Given the description of an element on the screen output the (x, y) to click on. 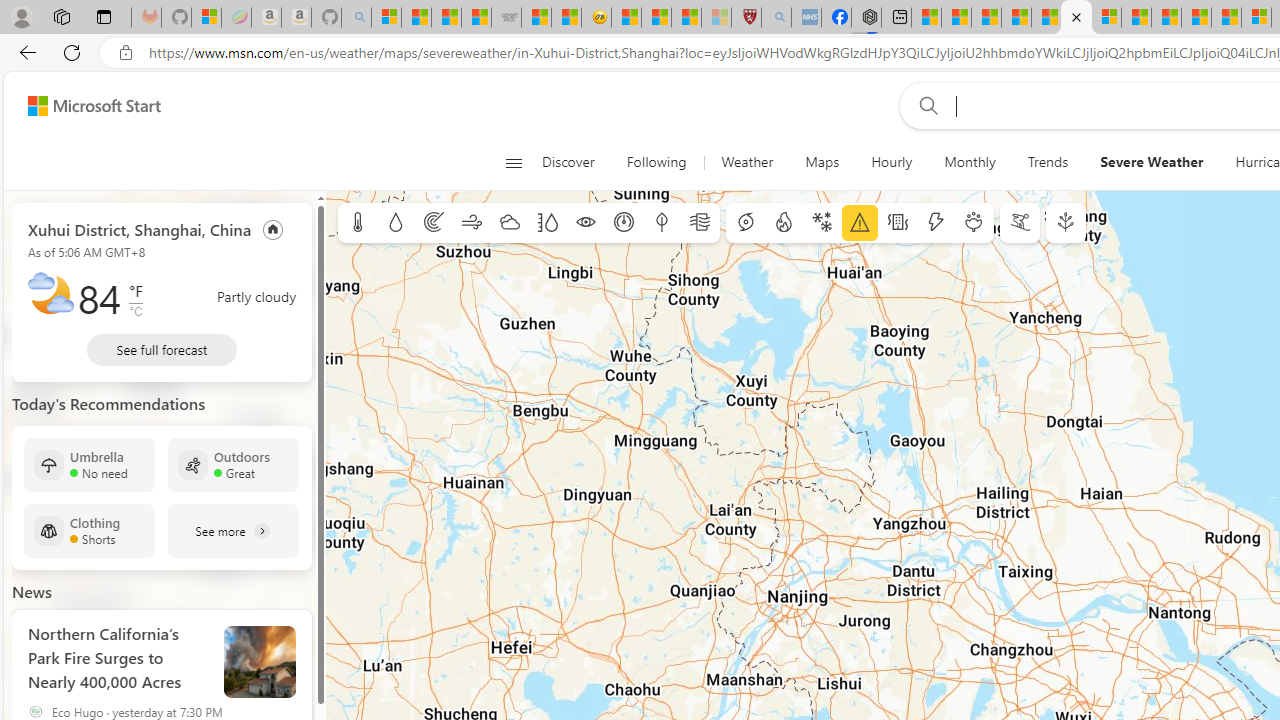
Severe Weather (1151, 162)
Pollen (974, 223)
Hurricane (746, 223)
Fire information (783, 223)
Maps (822, 162)
Clothing Shorts (89, 530)
Umbrella No need (89, 464)
